Given the description of an element on the screen output the (x, y) to click on. 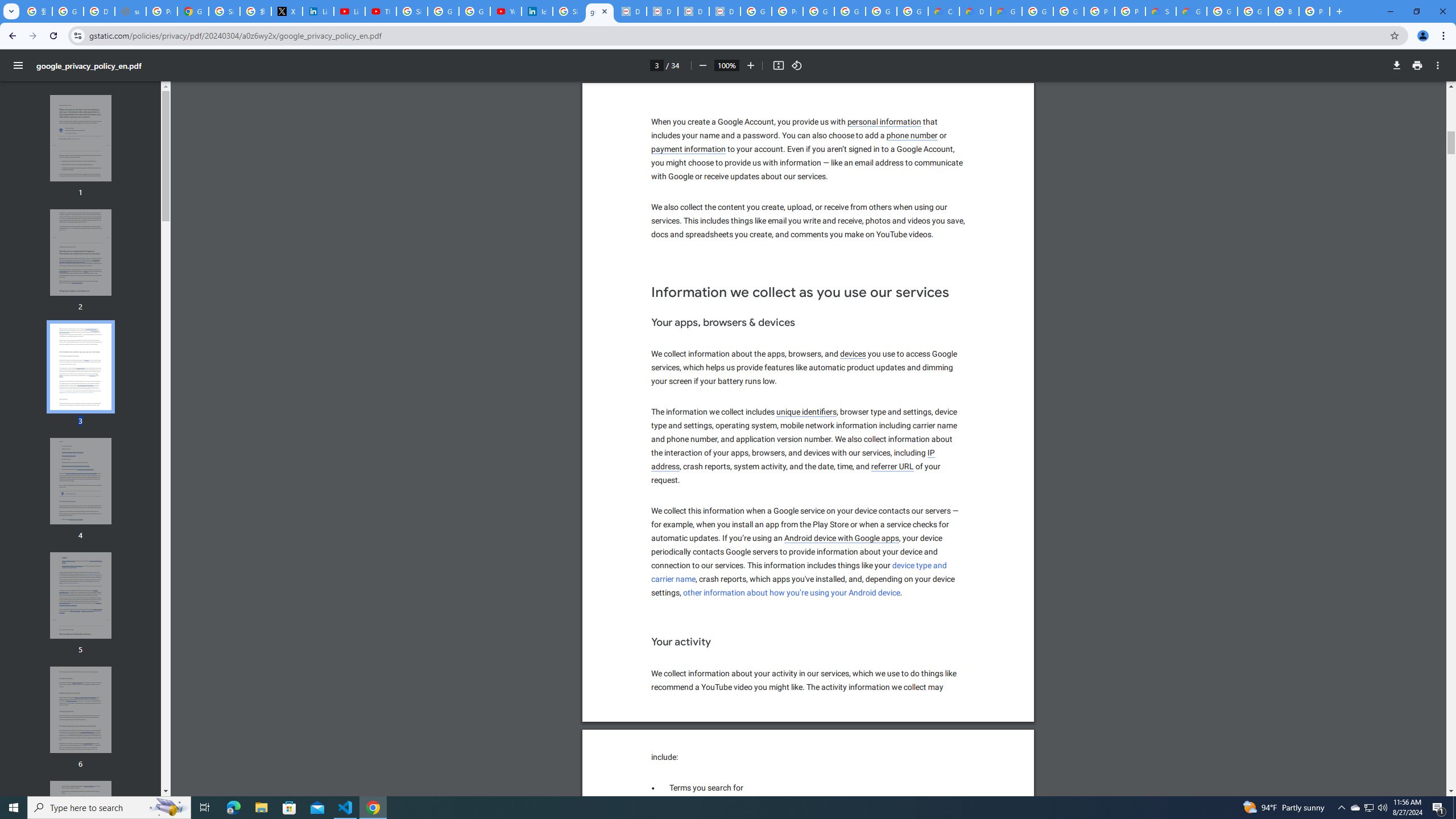
Zoom in (750, 65)
Thumbnail for page 1 (80, 138)
Thumbnail for page 2 (80, 252)
Support Hub | Google Cloud (1160, 11)
LinkedIn - YouTube (349, 11)
Fit to page (777, 65)
Google Cloud Platform (1252, 11)
Data Privacy Framework (631, 11)
